Given the description of an element on the screen output the (x, y) to click on. 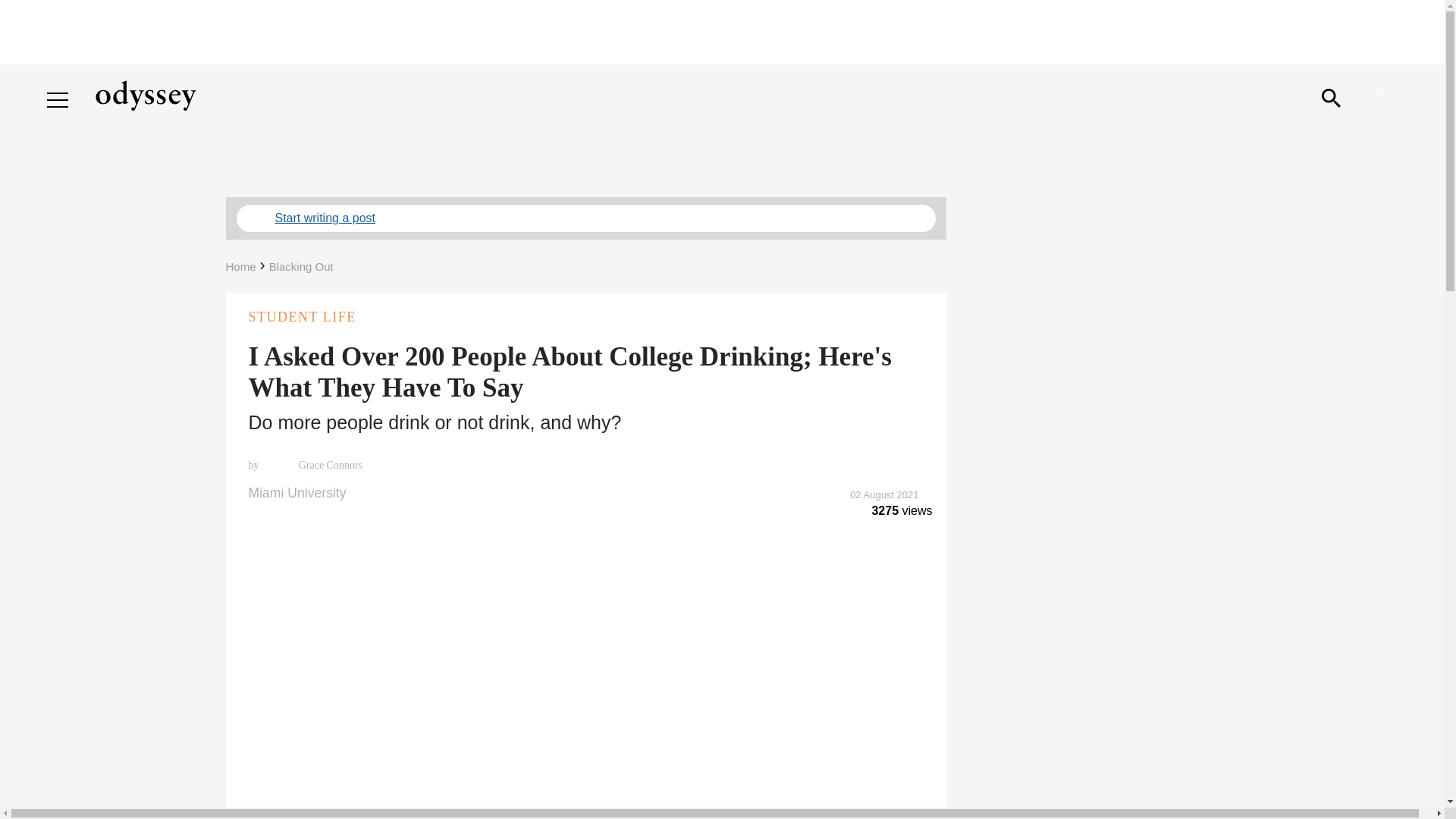
Blacking Out (301, 266)
GO BACK (79, 85)
Start writing a post (585, 217)
STUDENT LIFE (585, 316)
Home (240, 266)
Grace Connors (328, 465)
